Given the description of an element on the screen output the (x, y) to click on. 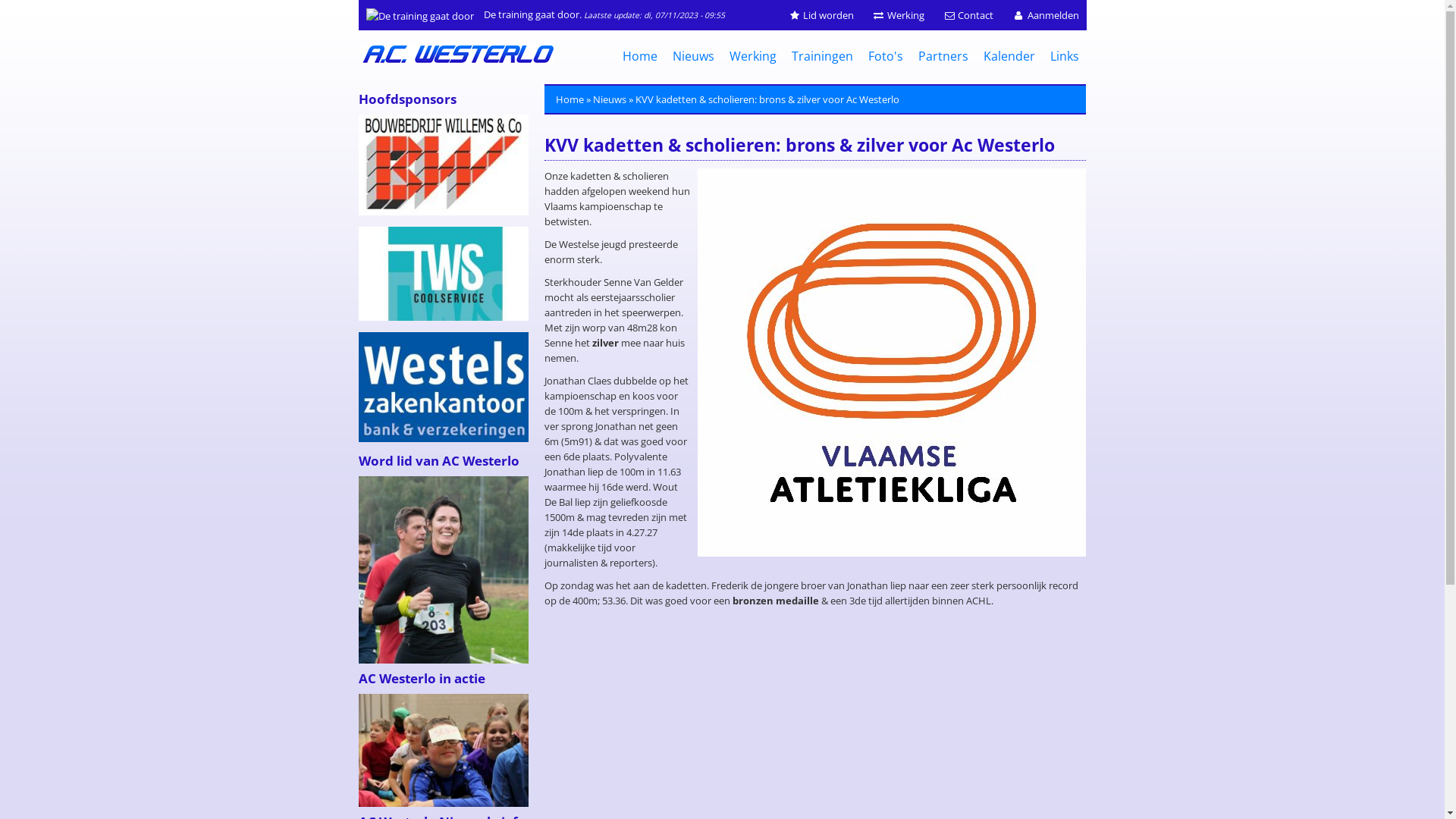
Trainingen Element type: text (822, 55)
Foto's Element type: text (884, 55)
Kalender Element type: text (1008, 55)
Nieuws Element type: text (692, 55)
Links Element type: text (1063, 55)
Lid worden Element type: text (820, 14)
Home Element type: text (569, 99)
Aanmelden Element type: text (1045, 14)
Home Element type: text (638, 55)
Nieuws Element type: text (609, 99)
Contact Element type: text (968, 14)
Partners Element type: text (942, 55)
Werking Element type: text (898, 14)
Werking Element type: text (752, 55)
De training gaat door Element type: hover (419, 15)
  Element type: text (458, 62)
